Given the description of an element on the screen output the (x, y) to click on. 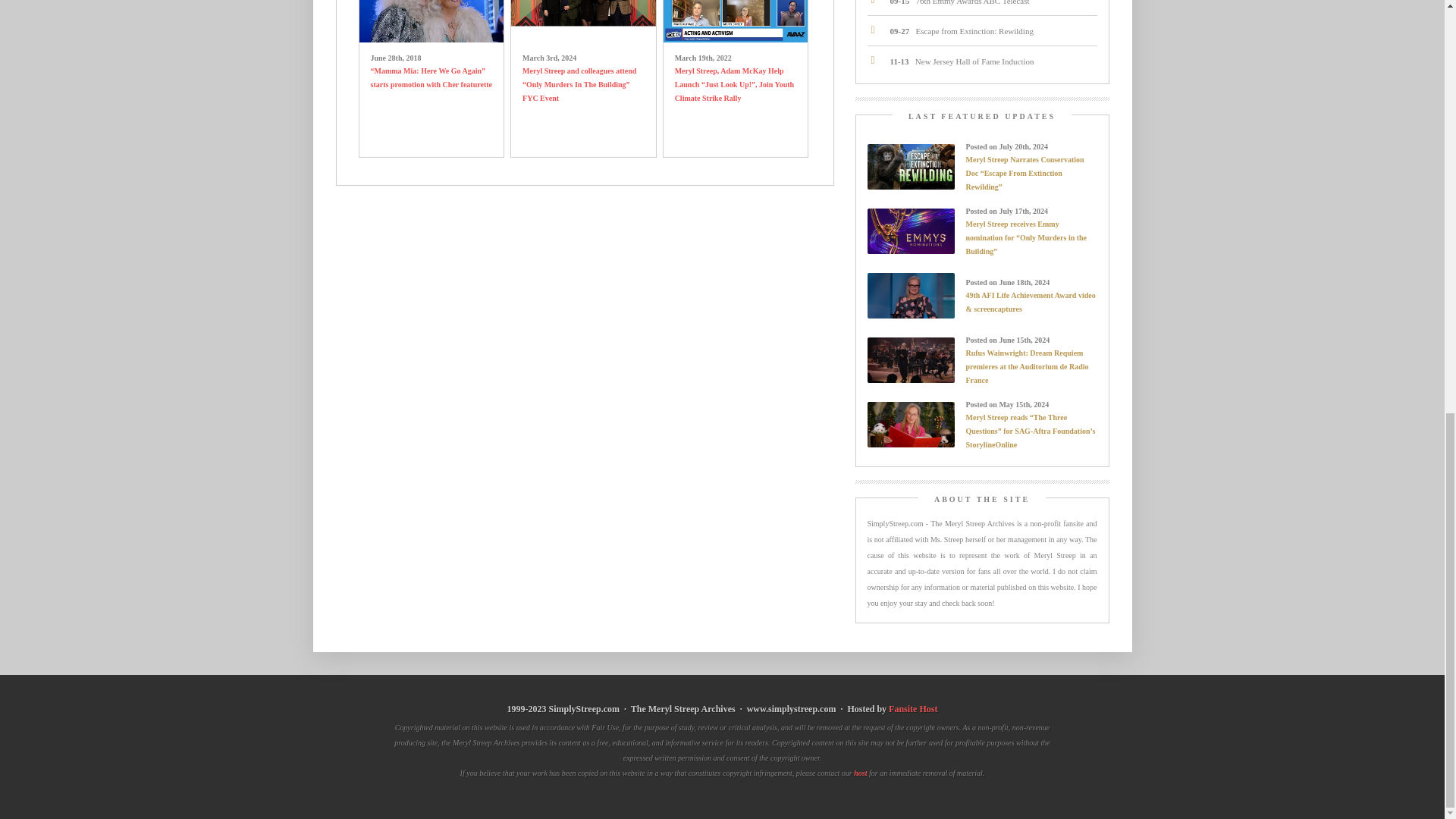
Fansite Host (912, 708)
